Given the description of an element on the screen output the (x, y) to click on. 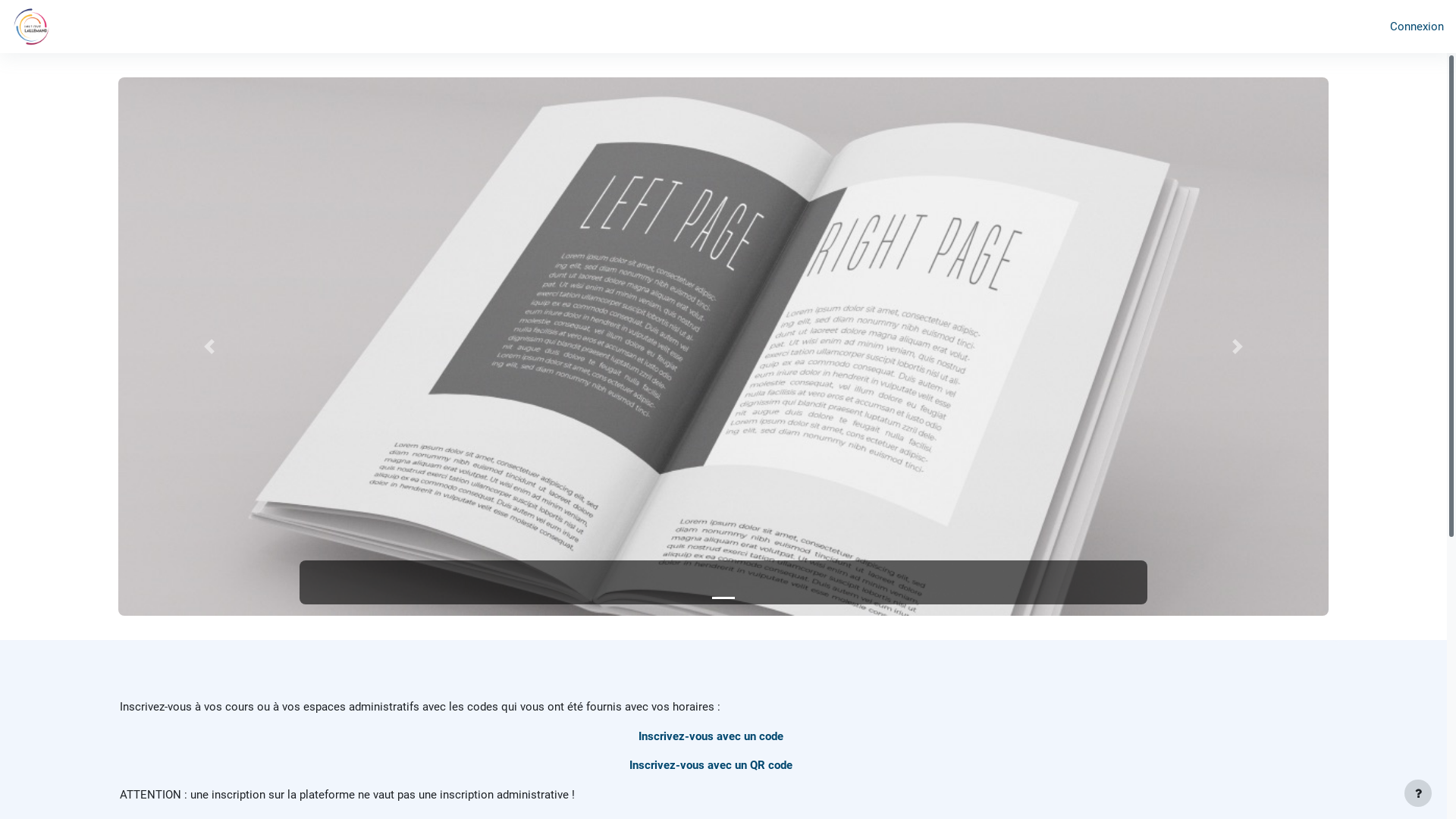
Inscrivez-vous avec un code Element type: text (710, 736)
Suivant Element type: text (1237, 346)
Connexion Element type: text (1416, 26)
Inscrivez-vous avec un QR code Element type: text (710, 764)
